Given the description of an element on the screen output the (x, y) to click on. 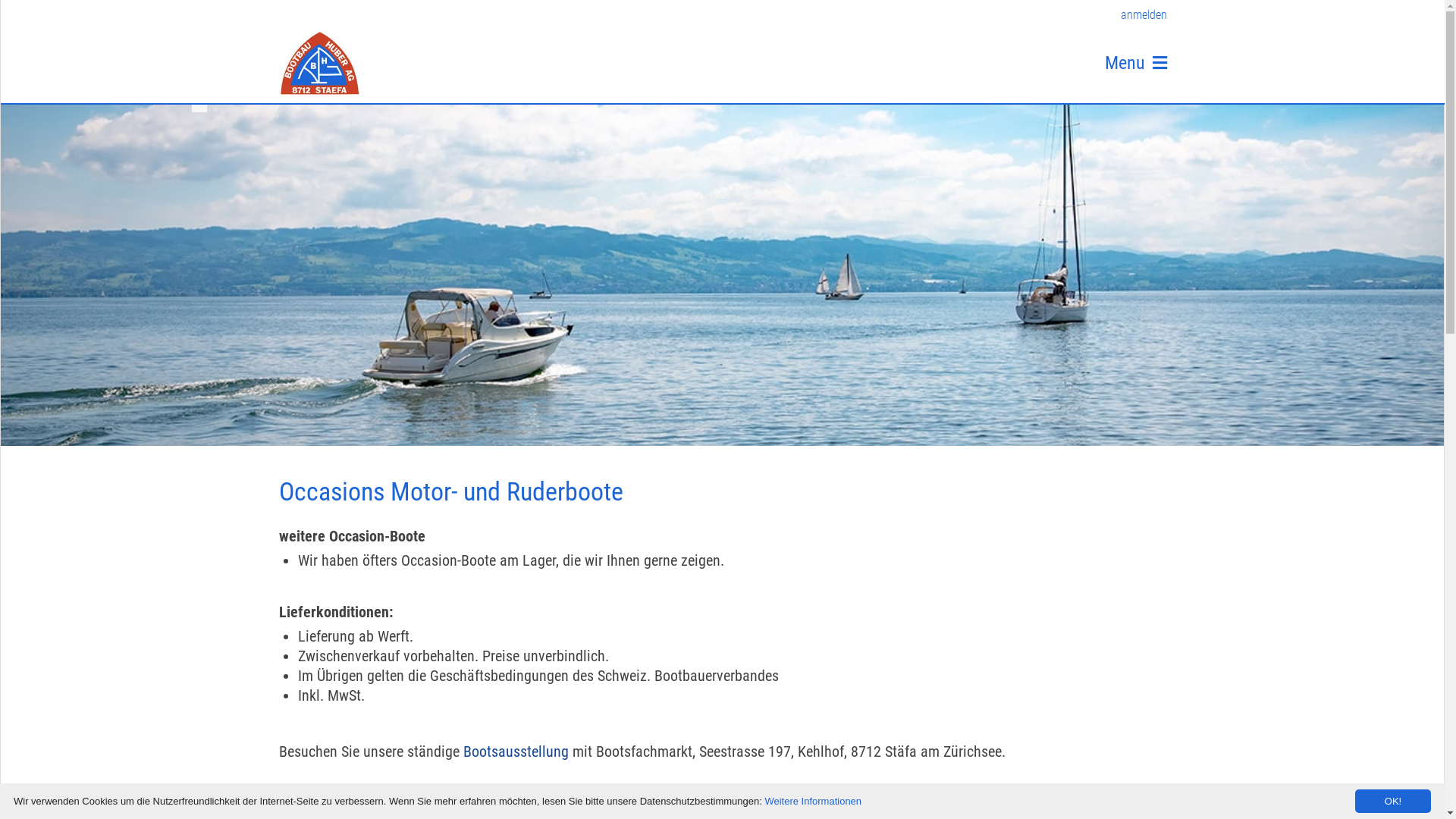
Bootsausstellung Element type: text (514, 751)
boot-bau.ch Element type: hover (319, 63)
Weitere Informationen Element type: text (812, 800)
anmelden Element type: text (1132, 15)
